Given the description of an element on the screen output the (x, y) to click on. 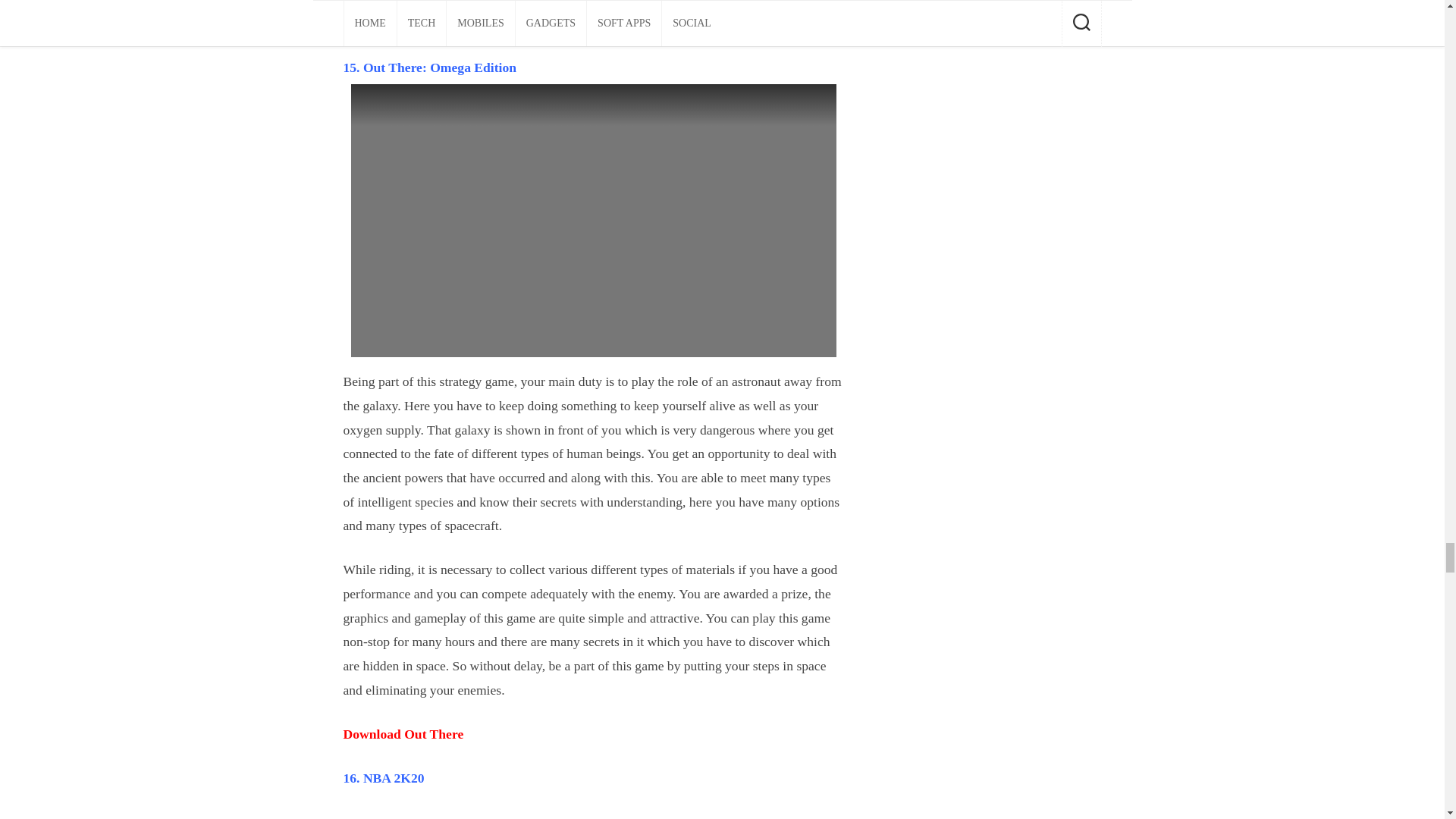
Download Sky Dancer Premium (433, 23)
Download Out There (402, 734)
